Given the description of an element on the screen output the (x, y) to click on. 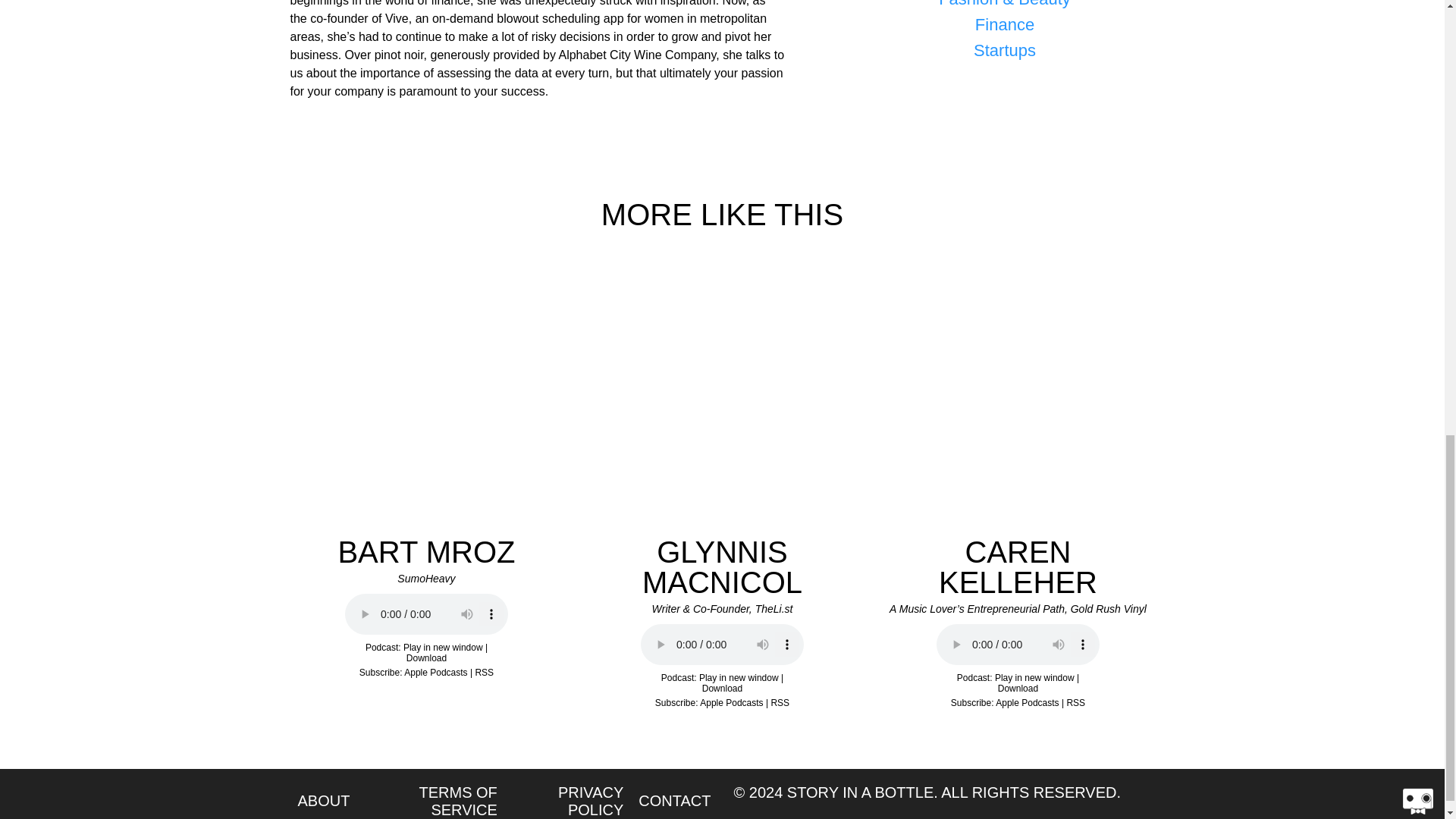
Finance (1005, 24)
Play in new window (738, 677)
Apple Podcasts (435, 672)
Bart Mroz (426, 613)
RSS (483, 672)
Alphabet City Wine Company (636, 54)
Play in new window (443, 647)
Startups (1005, 50)
Vive (397, 18)
Download (426, 657)
